Given the description of an element on the screen output the (x, y) to click on. 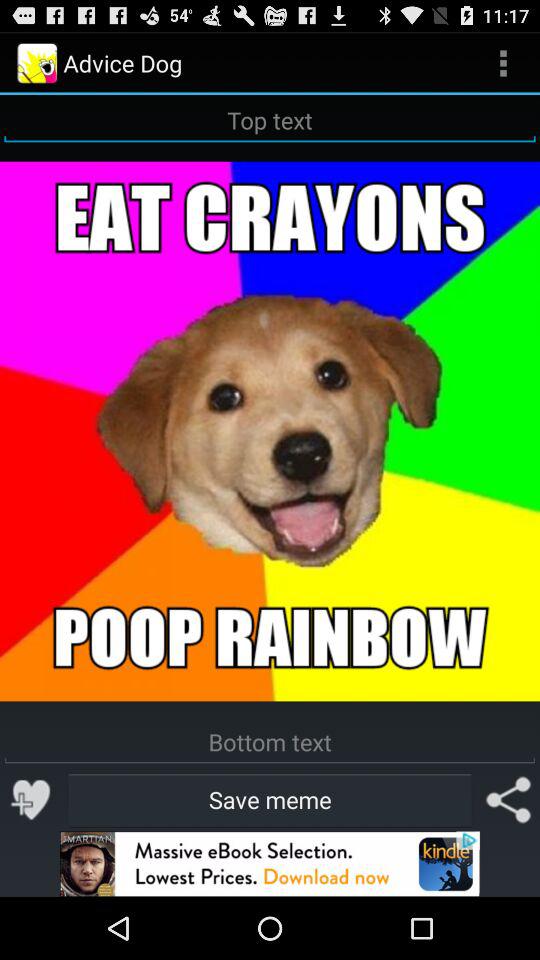
save to favorites (31, 799)
